Given the description of an element on the screen output the (x, y) to click on. 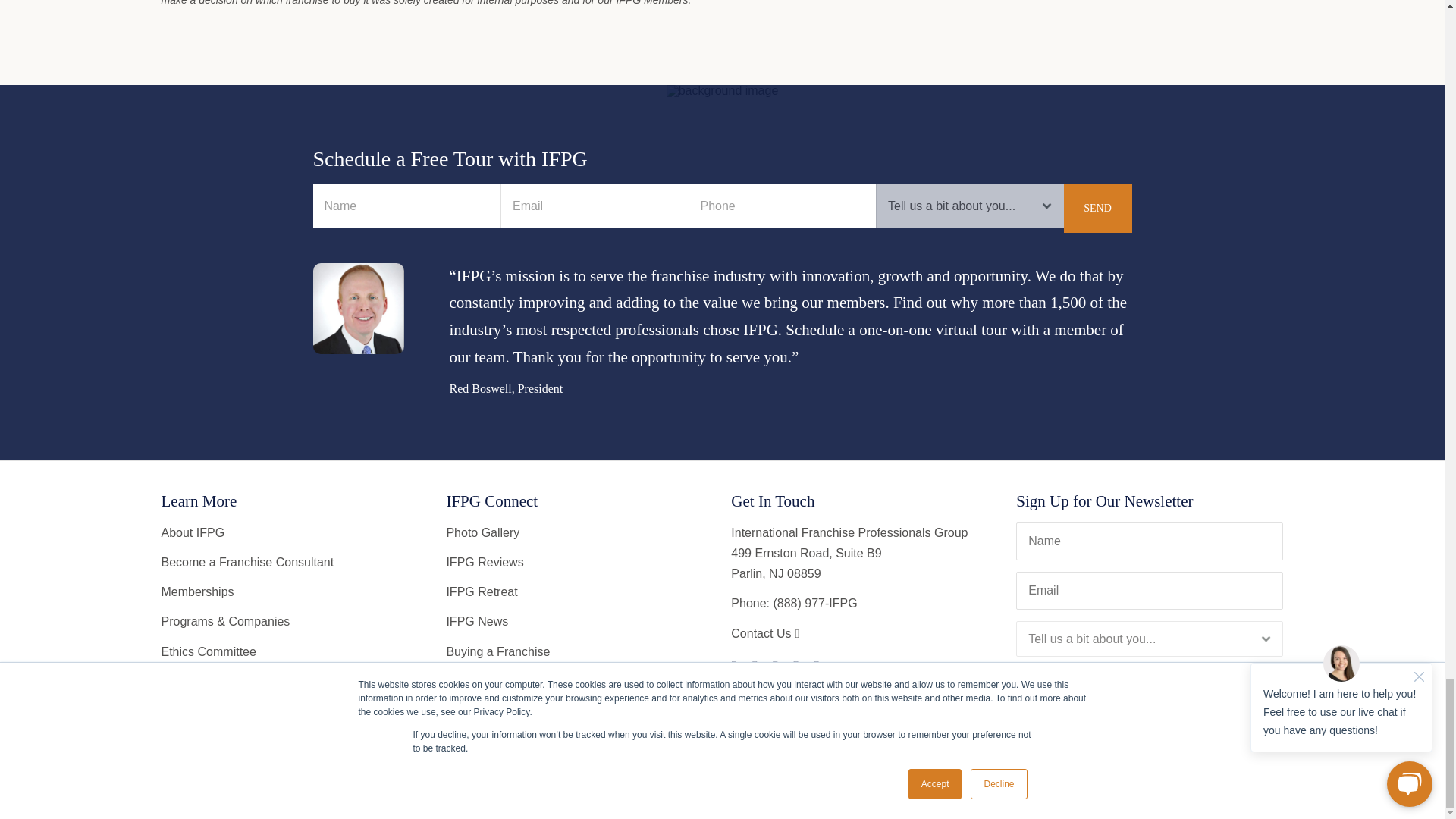
About IFPG (192, 532)
